Given the description of an element on the screen output the (x, y) to click on. 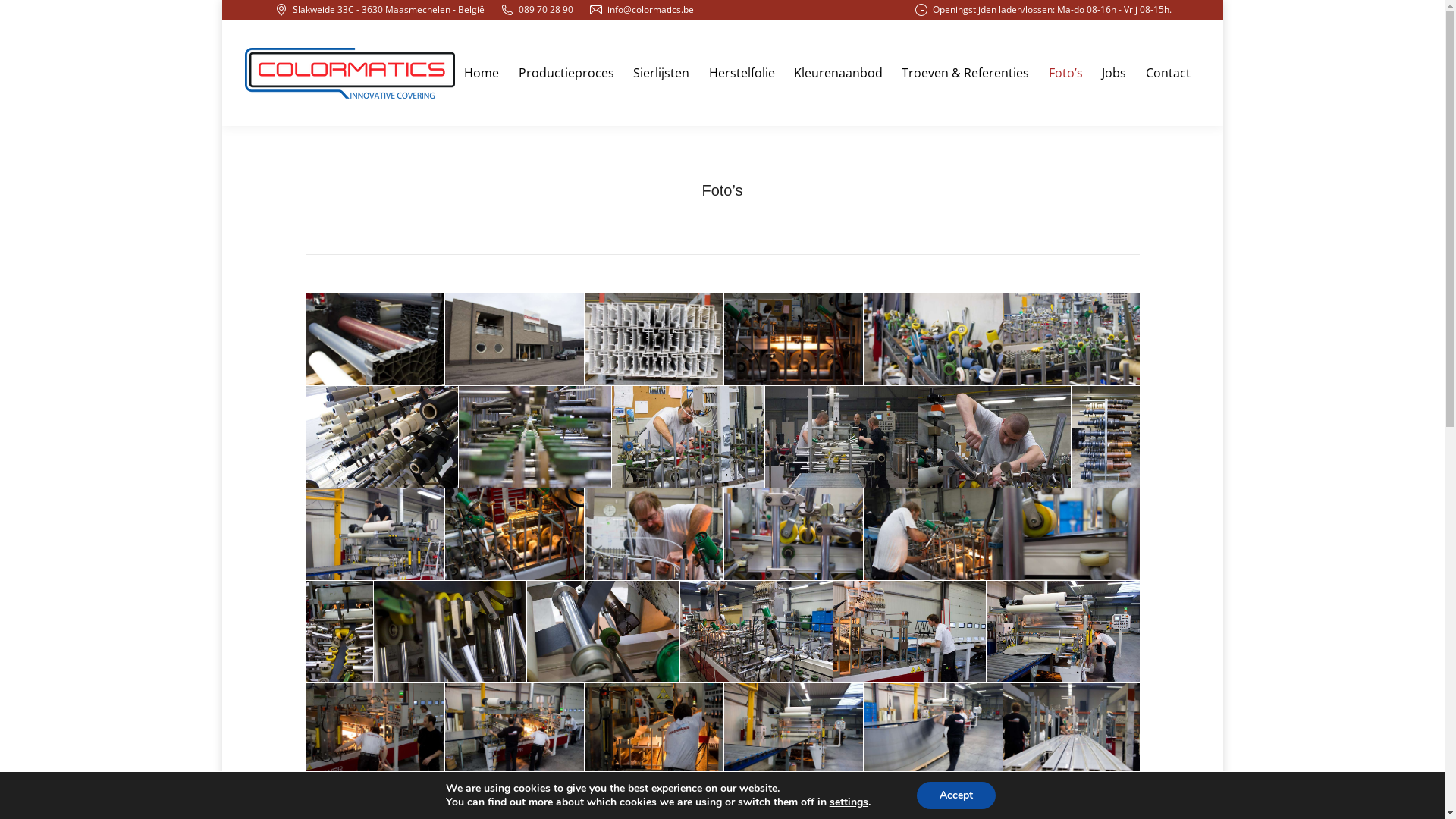
colormatics-0598 Element type: hover (373, 338)
colormatics-0642 Element type: hover (1070, 338)
colormatics-0706 Element type: hover (1062, 631)
colormatics-0708 Element type: hover (373, 729)
colormatics-0710 Element type: hover (652, 729)
colormatics-0683 Element type: hover (373, 534)
Sierlijsten Element type: text (660, 72)
colormatics-0634 Element type: hover (792, 338)
colormatics-0709 Element type: hover (513, 729)
colormatics-0633 Element type: hover (652, 338)
colormatics-0602 Element type: hover (513, 338)
colormatics-0641 Element type: hover (931, 338)
colormatics-0693 Element type: hover (931, 534)
Home Element type: text (481, 72)
colormatics-0714 Element type: hover (931, 729)
Kleurenaanbod Element type: text (838, 72)
Herstelfolie Element type: text (741, 72)
colormatics-0668 Element type: hover (993, 436)
colormatics-0685 Element type: hover (652, 534)
colormatics-0661 Element type: hover (840, 436)
Productieproces Element type: text (566, 72)
colormatics-0705 Element type: hover (908, 631)
colormatics-0646 Element type: hover (534, 436)
colormatics-0699 Element type: hover (449, 631)
colormatics-0692 Element type: hover (792, 534)
colormatics-0727 Element type: hover (1070, 729)
colormatics-0647 Element type: hover (687, 436)
Jobs Element type: text (1113, 72)
colormatics-0677 Element type: hover (1104, 436)
Contact Element type: text (1168, 72)
colormatics-0697 Element type: hover (1070, 534)
colormatics-0700 Element type: hover (602, 631)
Accept Element type: text (955, 795)
colormatics-0712 Element type: hover (792, 729)
colormatics-0684 Element type: hover (513, 534)
Troeven & Referenties Element type: text (965, 72)
colormatics-0701 Element type: hover (755, 631)
colormatics-0698 Element type: hover (338, 631)
settings Element type: text (848, 802)
colormatics-0645 Element type: hover (380, 436)
